Given the description of an element on the screen output the (x, y) to click on. 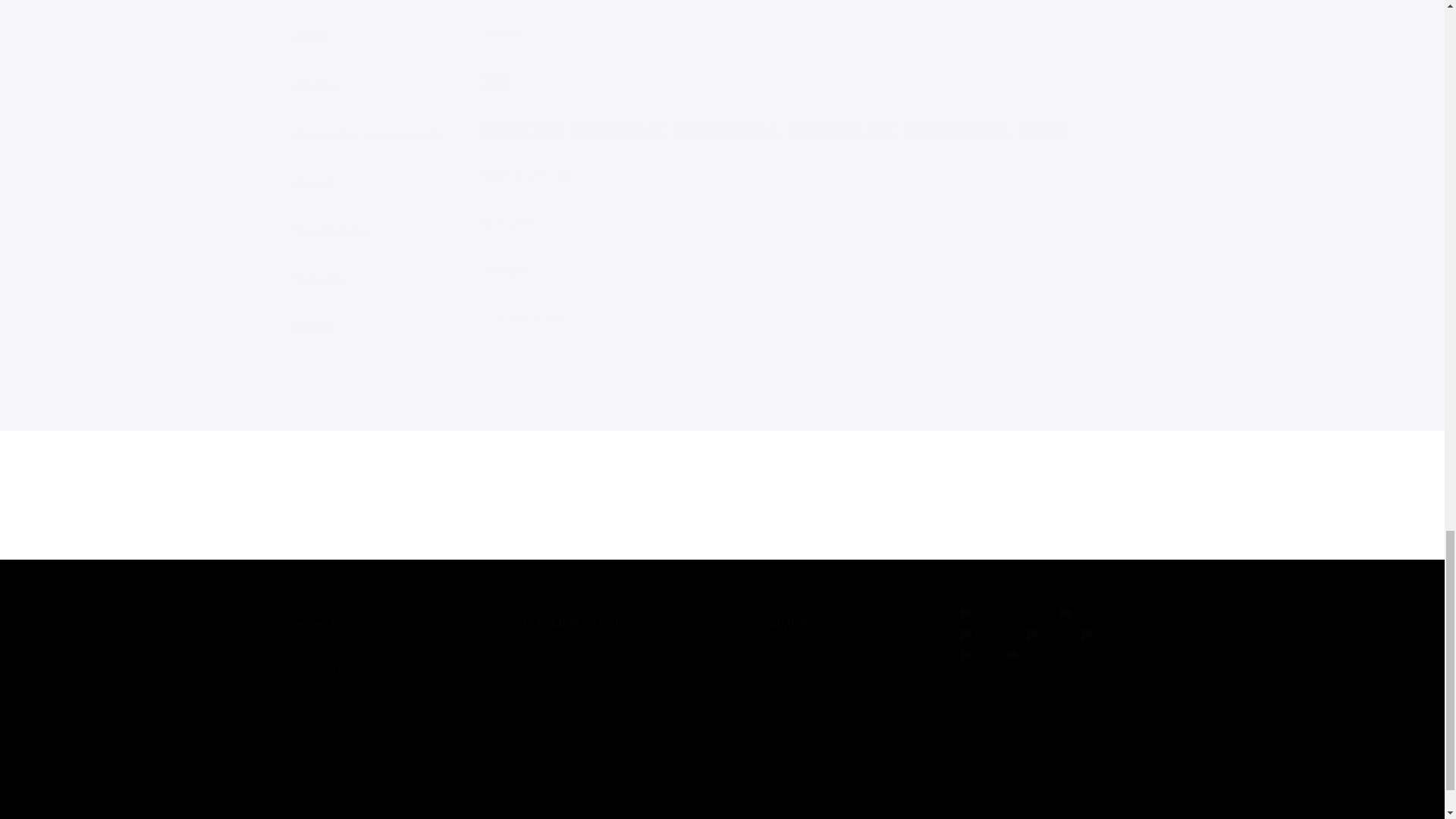
Tires (494, 79)
Dualtron Victor (522, 127)
Mobygum Xenon-S (725, 127)
Kaabo Mantis 10 (619, 127)
